Given the description of an element on the screen output the (x, y) to click on. 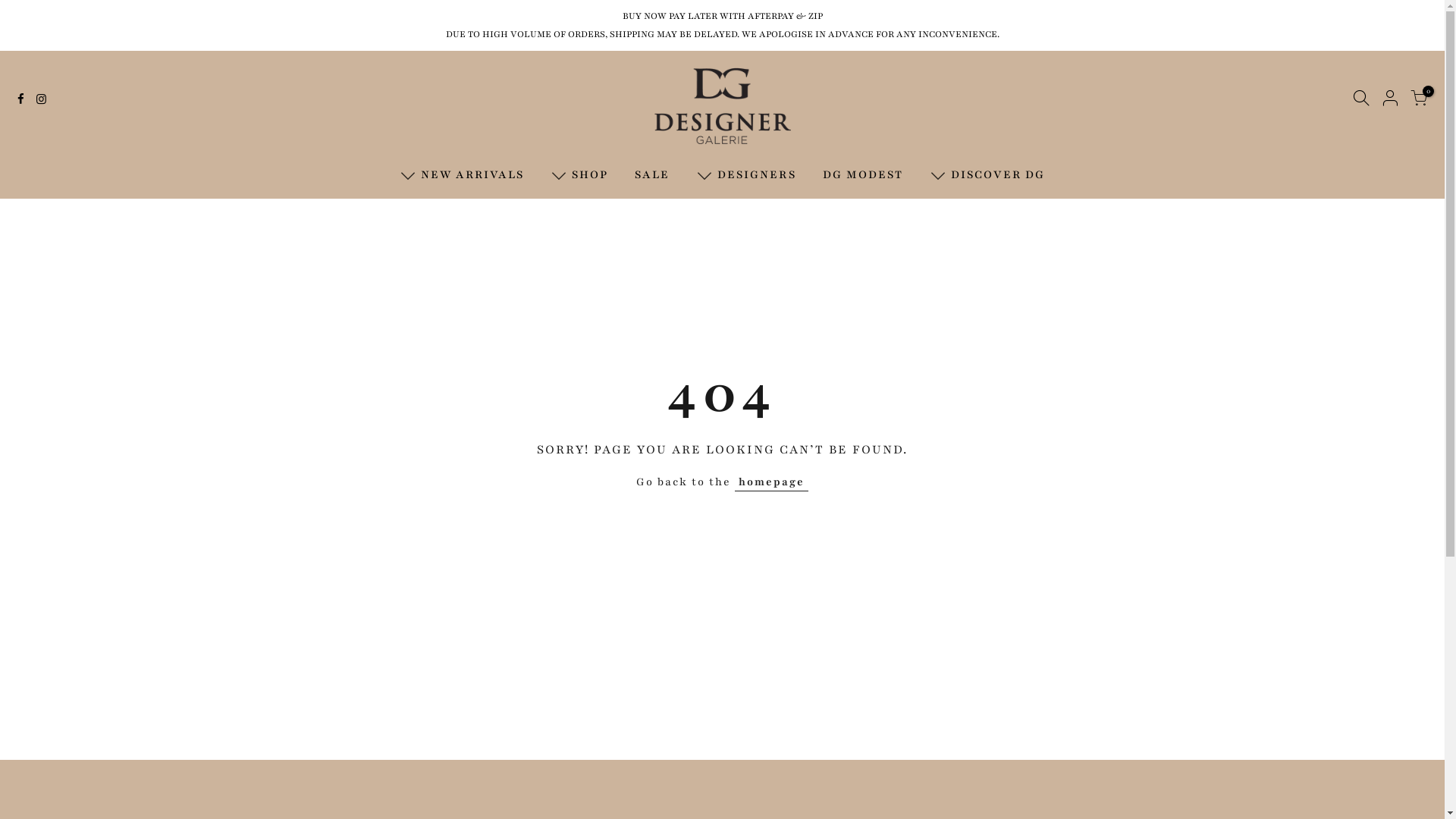
DISCOVER DG Element type: text (986, 174)
homepage Element type: text (771, 482)
0 Element type: text (1418, 100)
NEW ARRIVALS Element type: text (461, 174)
DESIGNERS Element type: text (745, 174)
DG MODEST Element type: text (862, 174)
SALE Element type: text (652, 174)
SHOP Element type: text (578, 174)
